Given the description of an element on the screen output the (x, y) to click on. 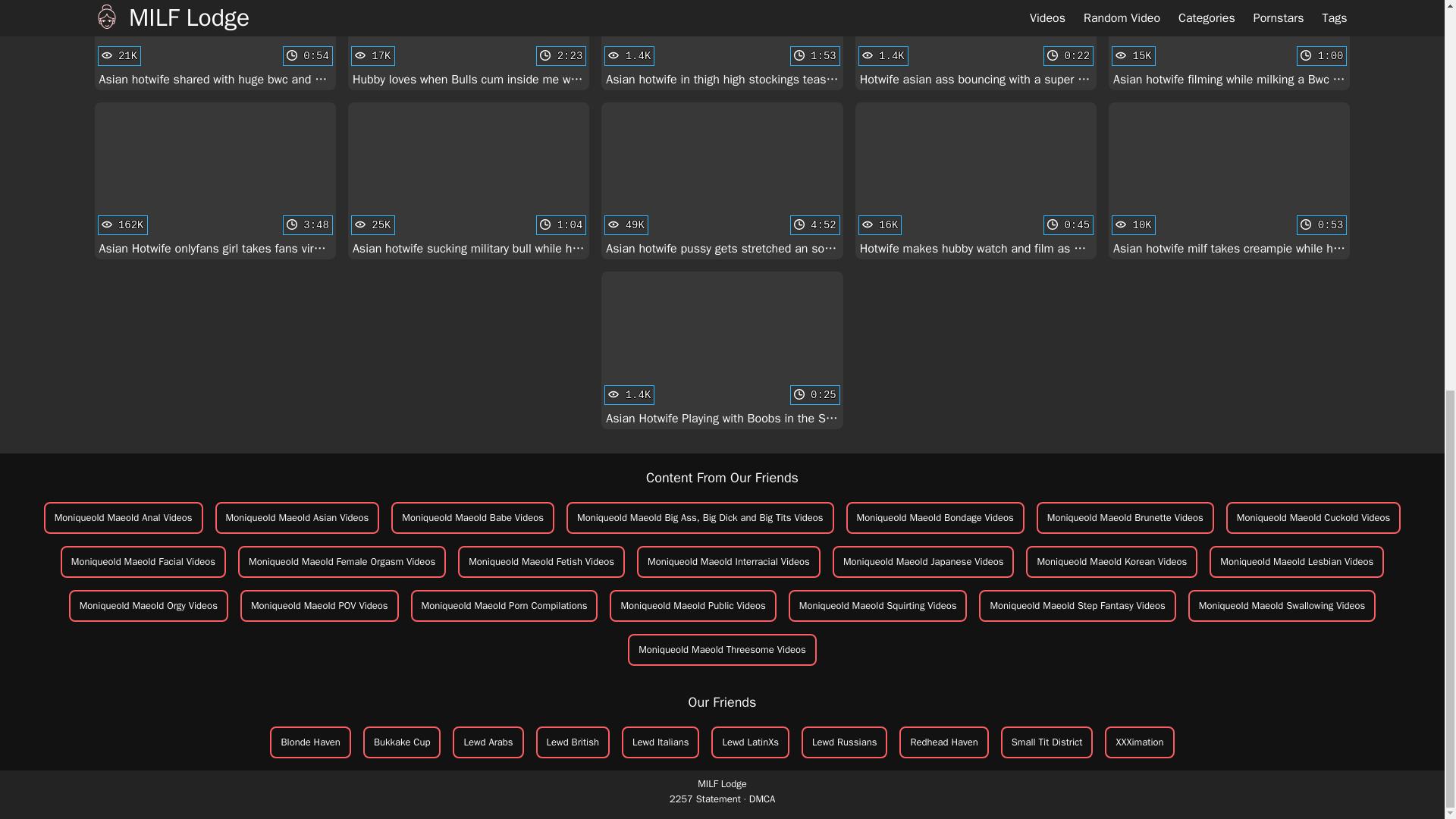
Moniqueold Maeold Brunette Videos (1125, 517)
Moniqueold Maeold Bondage Videos (722, 349)
Moniqueold Maeold Big Ass, Big Dick and Big Tits Videos (935, 517)
Hotwife asian ass bouncing with a super wet pussy (700, 517)
Asian hotwife shared with huge bwc and no birth control (976, 45)
Moniqueold Maeold Anal Videos (215, 45)
